Given the description of an element on the screen output the (x, y) to click on. 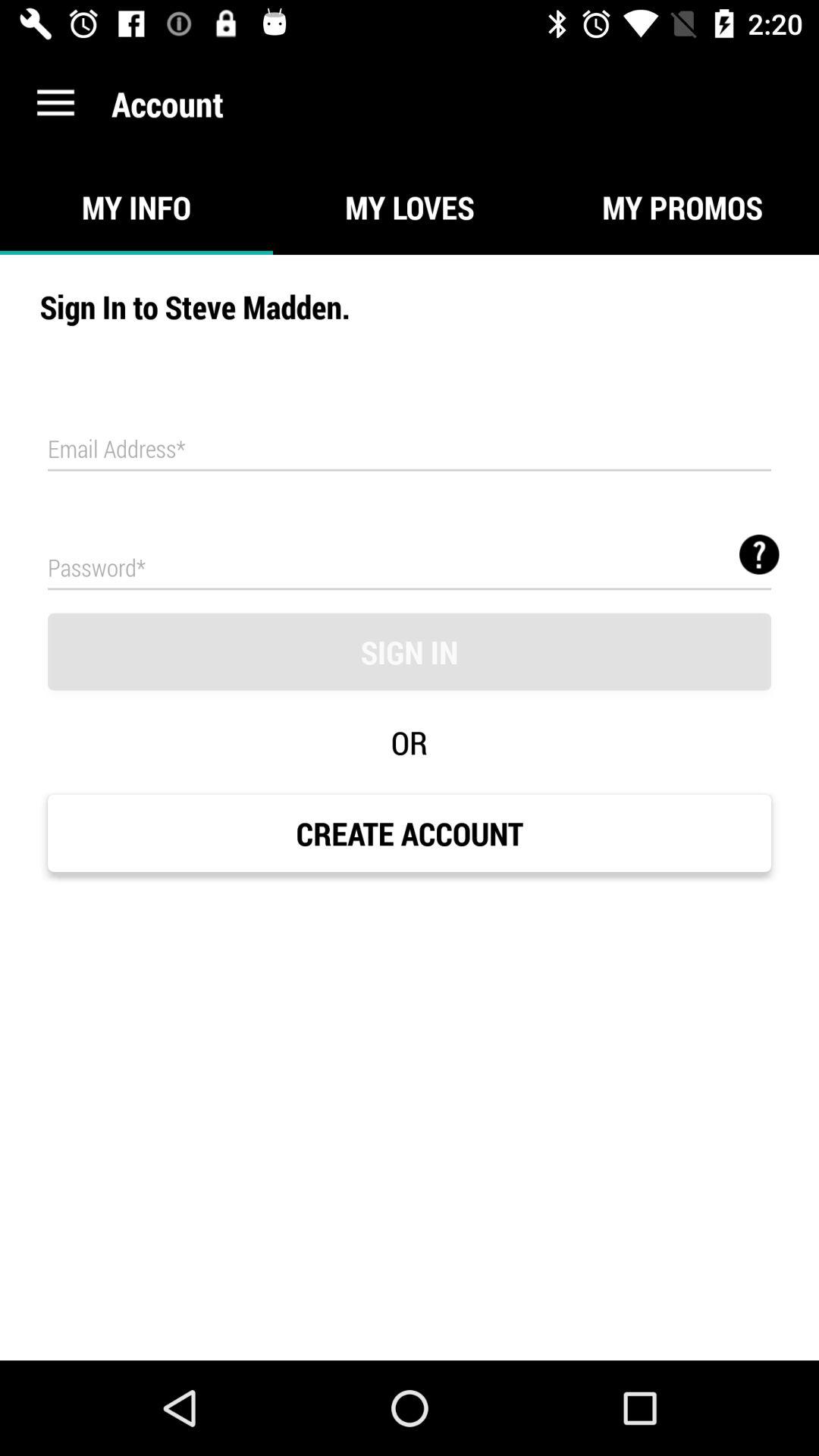
launch item above my info (55, 103)
